Given the description of an element on the screen output the (x, y) to click on. 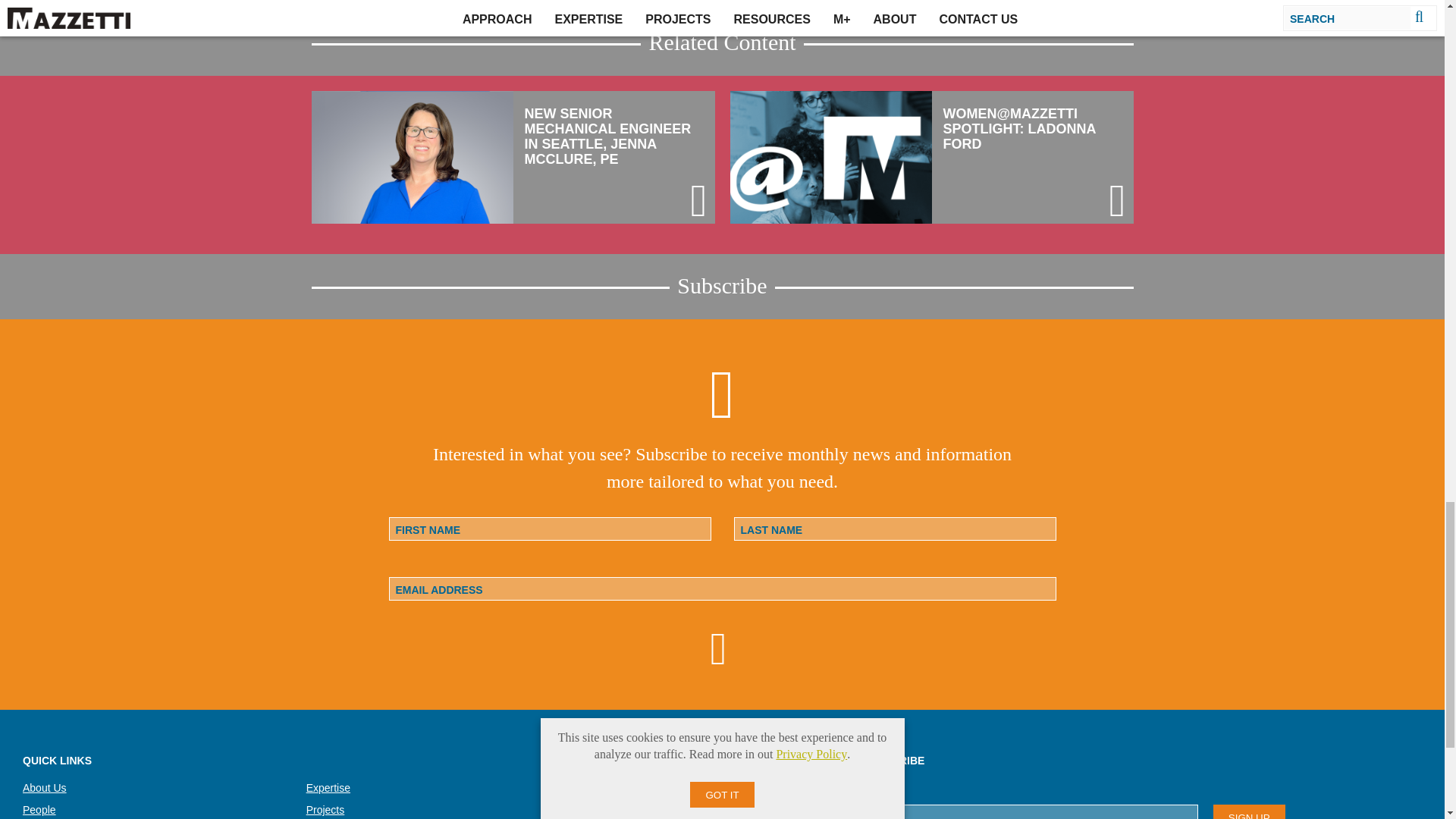
Sign Up (1248, 811)
